Given the description of an element on the screen output the (x, y) to click on. 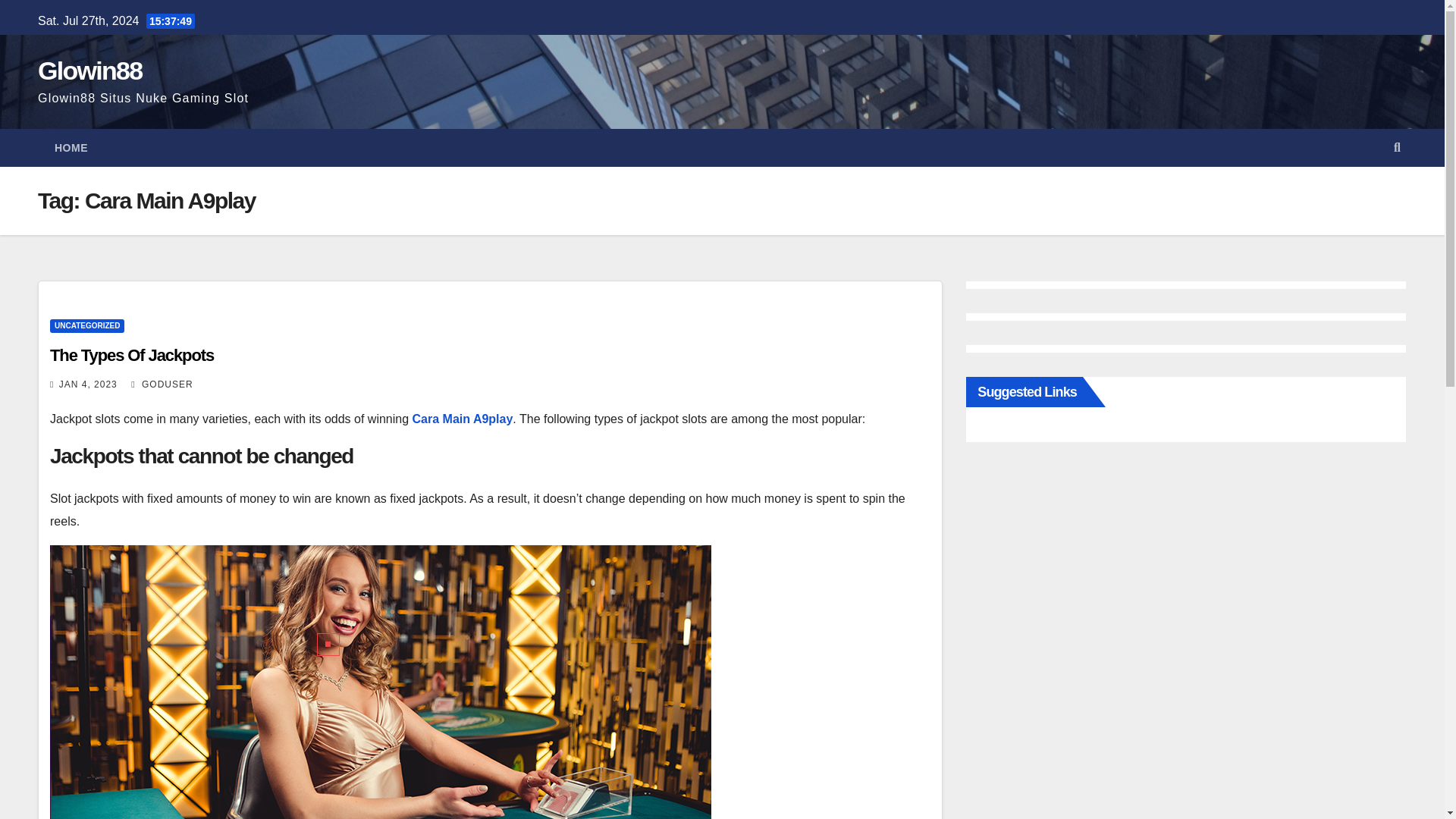
The Types Of Jackpots (131, 354)
Cara Main A9play (462, 418)
HOME (70, 147)
Glowin88 (89, 70)
GODUSER (161, 384)
UNCATEGORIZED (86, 325)
Home (70, 147)
JAN 4, 2023 (88, 384)
